Given the description of an element on the screen output the (x, y) to click on. 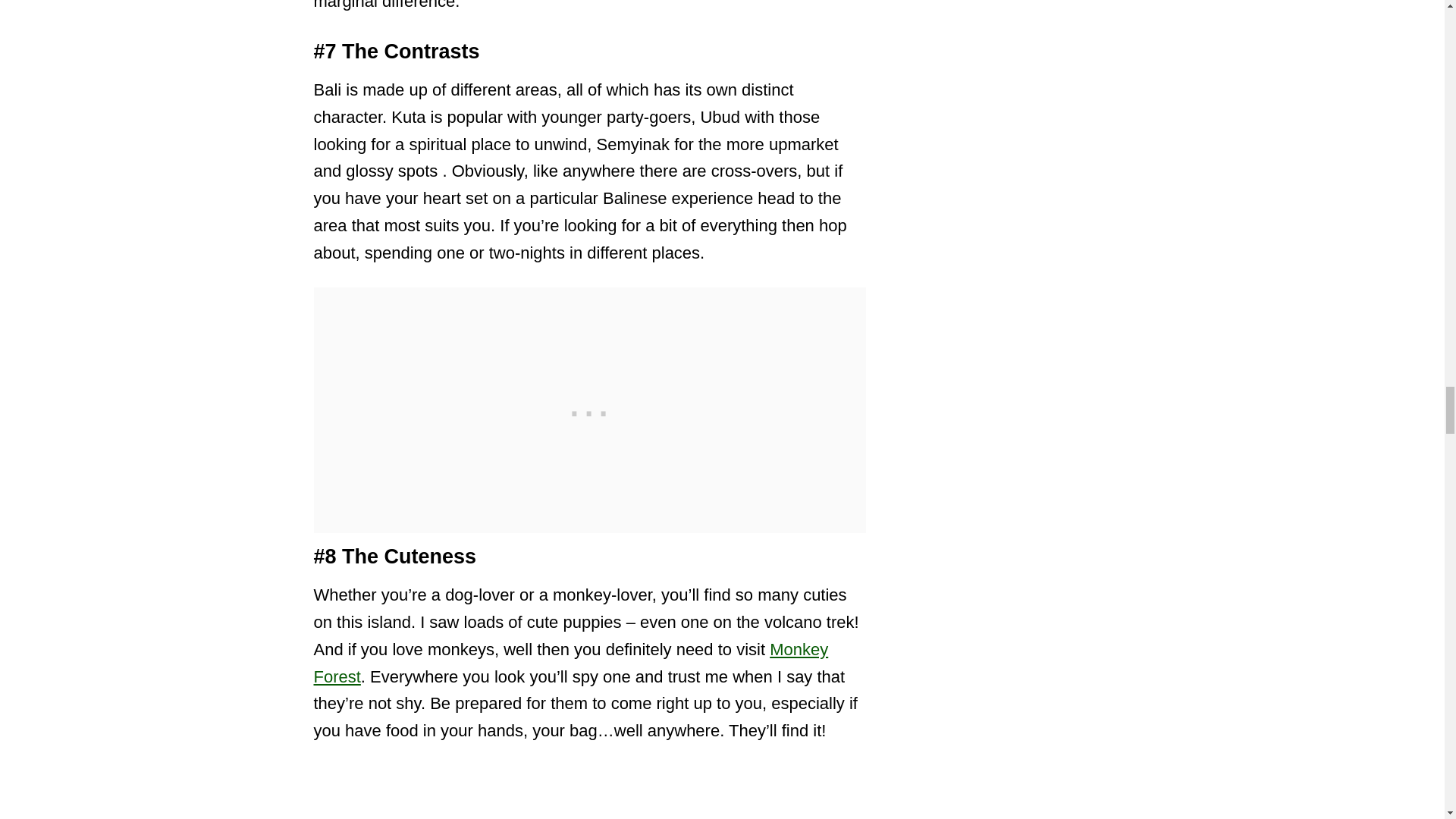
Monkey Forest (571, 662)
